Given the description of an element on the screen output the (x, y) to click on. 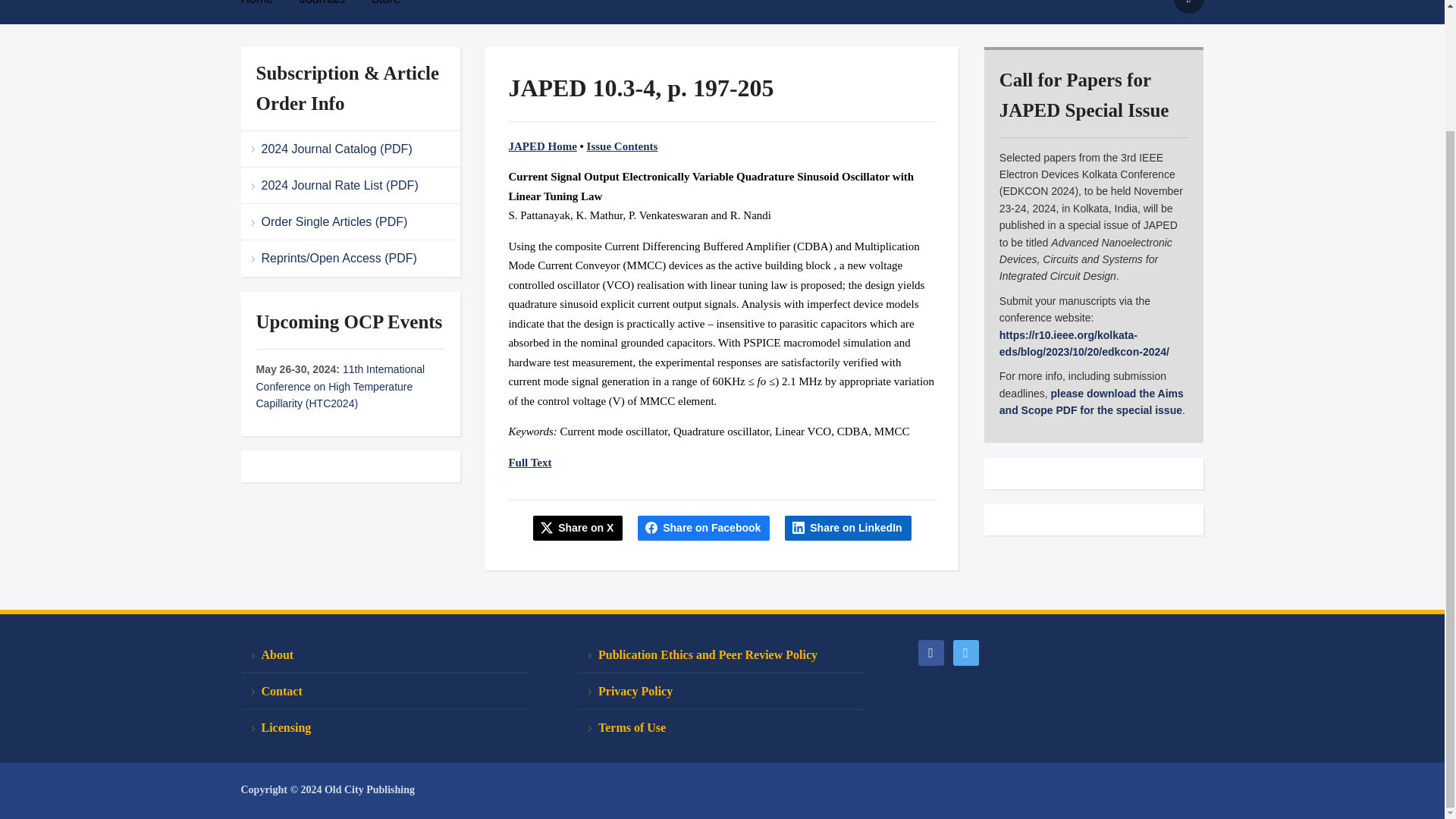
Share on X (577, 527)
Contact (385, 691)
Full Text (529, 462)
Share this on Facebook (703, 527)
Share this on X (577, 527)
About (385, 655)
please download the Aims and Scope PDF for the special issue (1090, 401)
Privacy Policy (722, 691)
facebook (930, 650)
Publication Ethics and Peer Review Policy (722, 655)
Home (269, 8)
Store (397, 8)
Search (1188, 6)
Share on Facebook (703, 527)
Follow Me (965, 650)
